Given the description of an element on the screen output the (x, y) to click on. 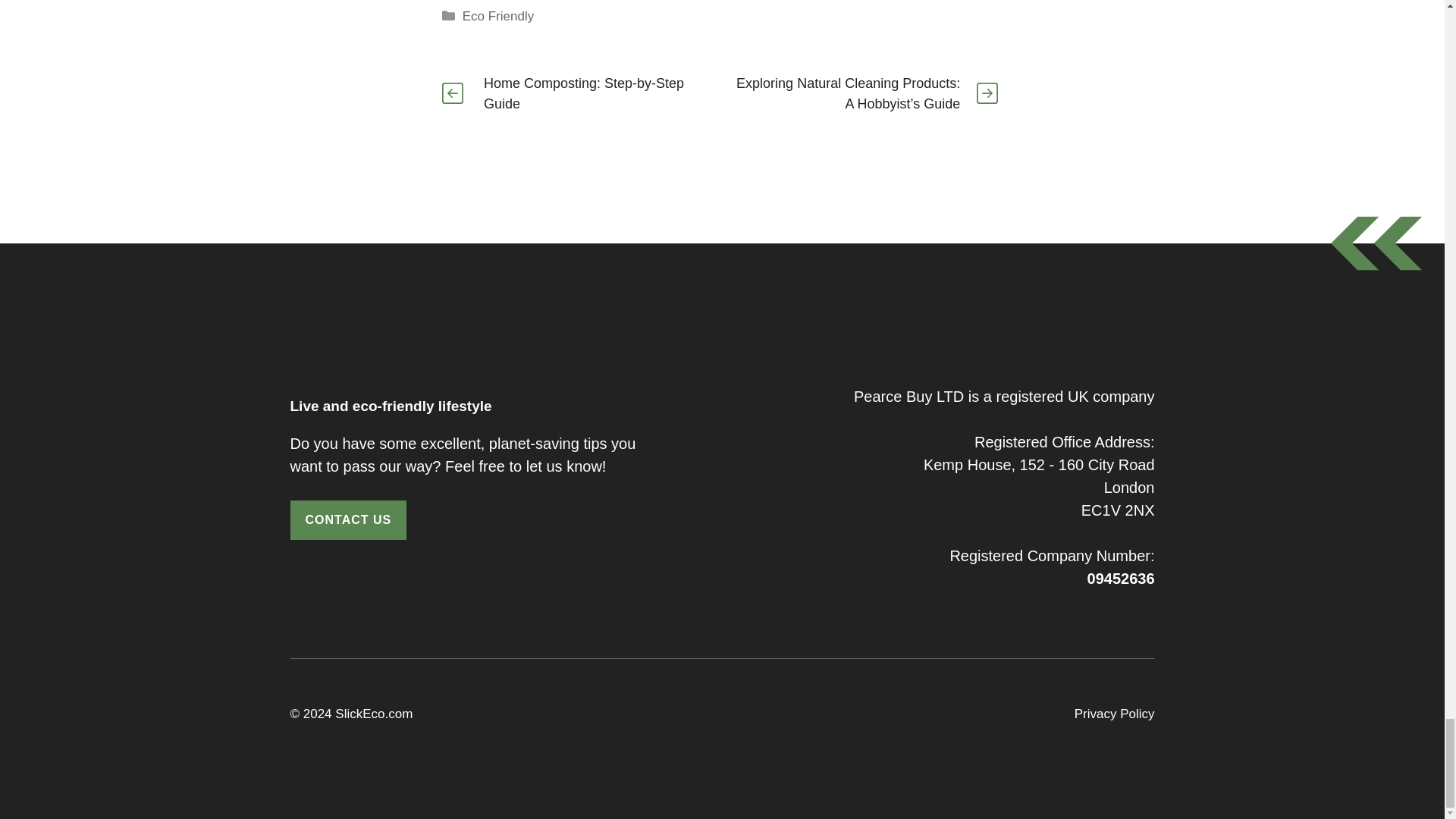
Home Composting: Step-by-Step Guide (583, 93)
Eco Friendly (498, 16)
CONTACT US (347, 519)
